Given the description of an element on the screen output the (x, y) to click on. 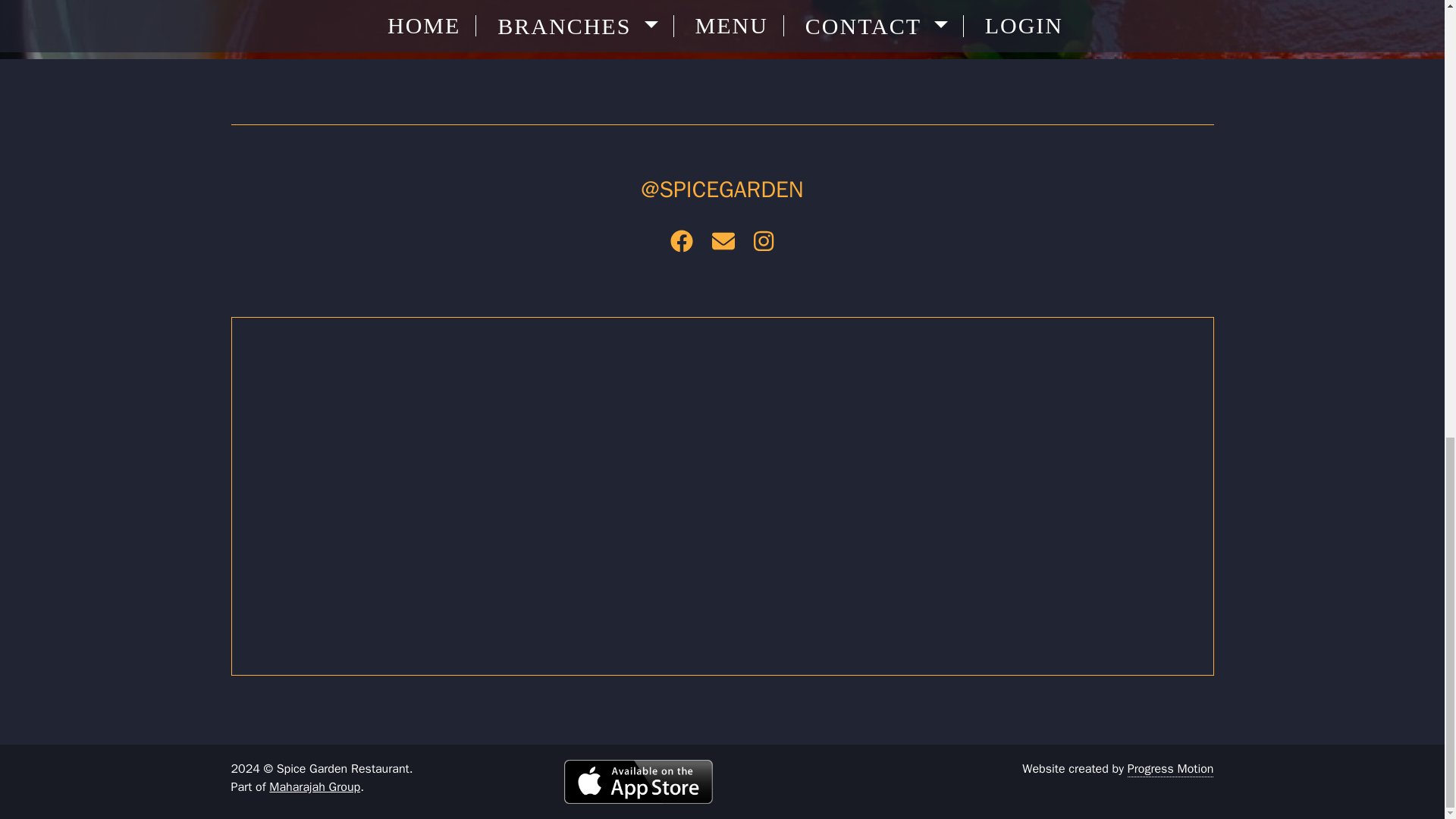
Maharajah Group (314, 786)
Progress Motion (1170, 769)
